Given the description of an element on the screen output the (x, y) to click on. 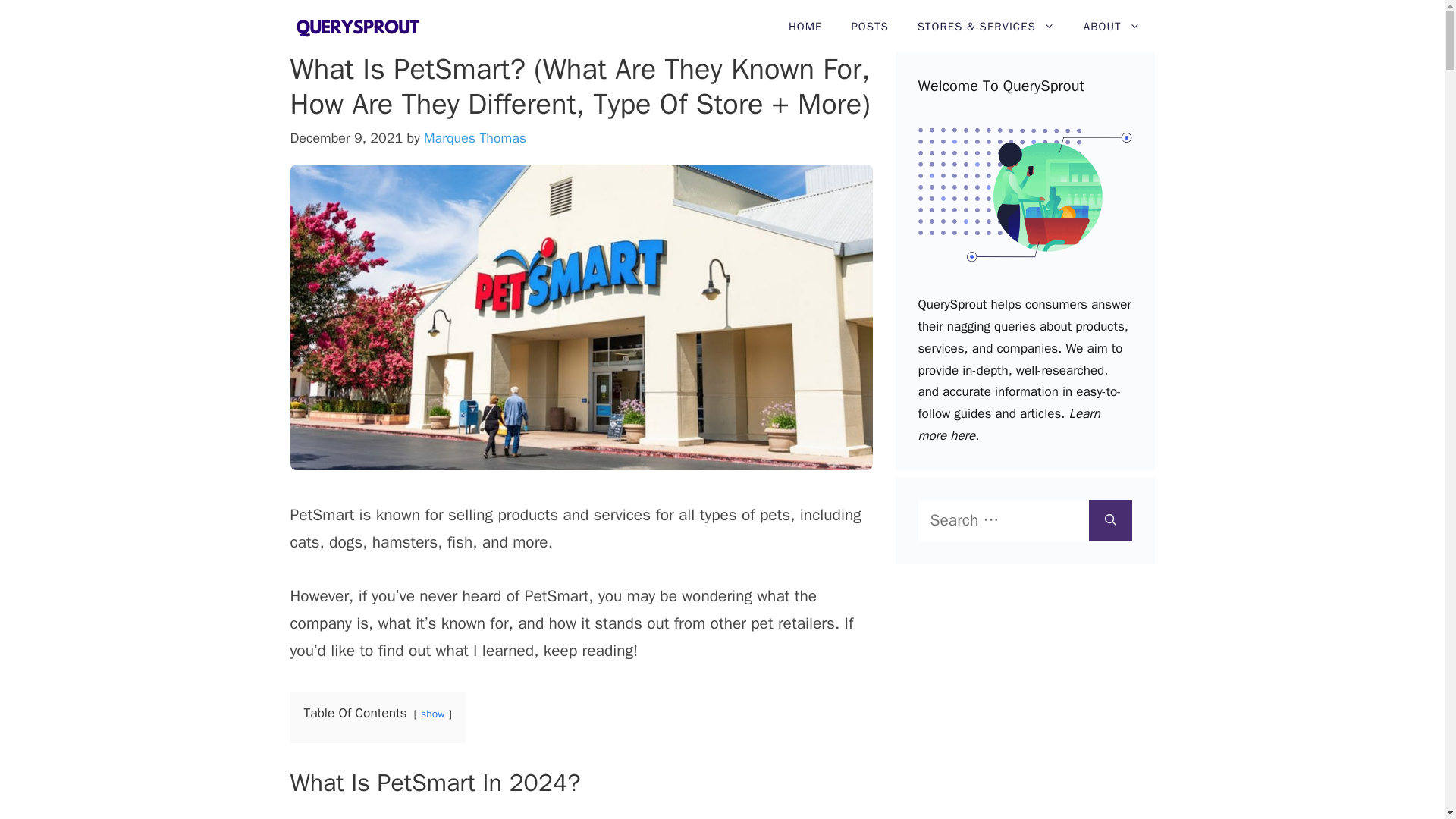
HOME (804, 26)
POSTS (868, 26)
Search for: (1002, 520)
View all posts by Marques Thomas (474, 137)
show (432, 713)
ABOUT (1111, 26)
Marques Thomas (474, 137)
